Given the description of an element on the screen output the (x, y) to click on. 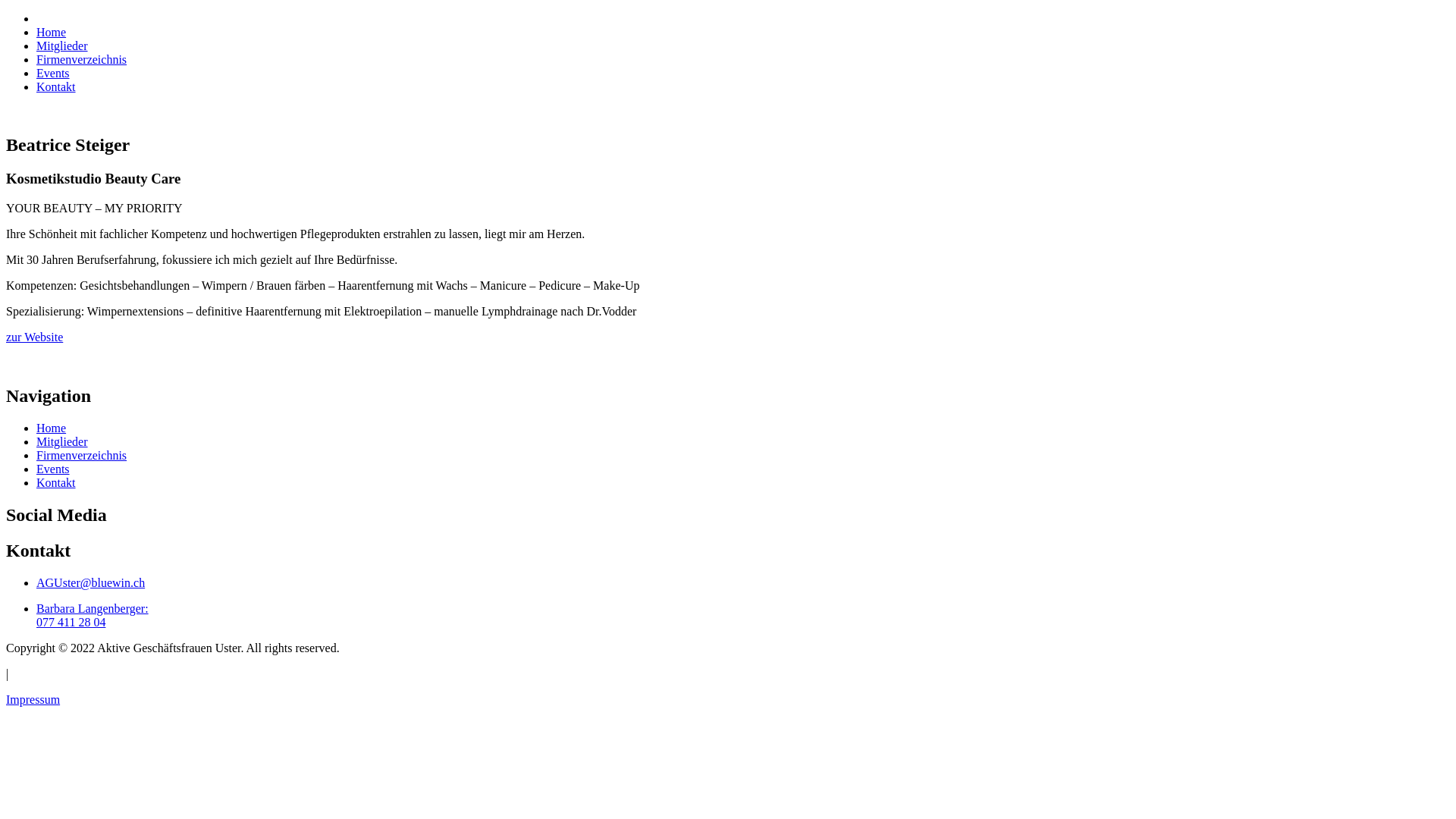
Events Element type: text (52, 72)
Impressum Element type: text (32, 699)
Barbara Langenberger:
077 411 28 04 Element type: text (92, 615)
Kontakt Element type: text (55, 86)
Mitglieder Element type: text (61, 441)
AGUster@bluewin.ch Element type: text (90, 582)
Kontakt Element type: text (55, 482)
Home Element type: text (50, 31)
zur Website Element type: text (34, 336)
Mitglieder Element type: text (61, 45)
Events Element type: text (52, 468)
Home Element type: text (50, 427)
Firmenverzeichnis Element type: text (81, 59)
Firmenverzeichnis Element type: text (81, 454)
